Given the description of an element on the screen output the (x, y) to click on. 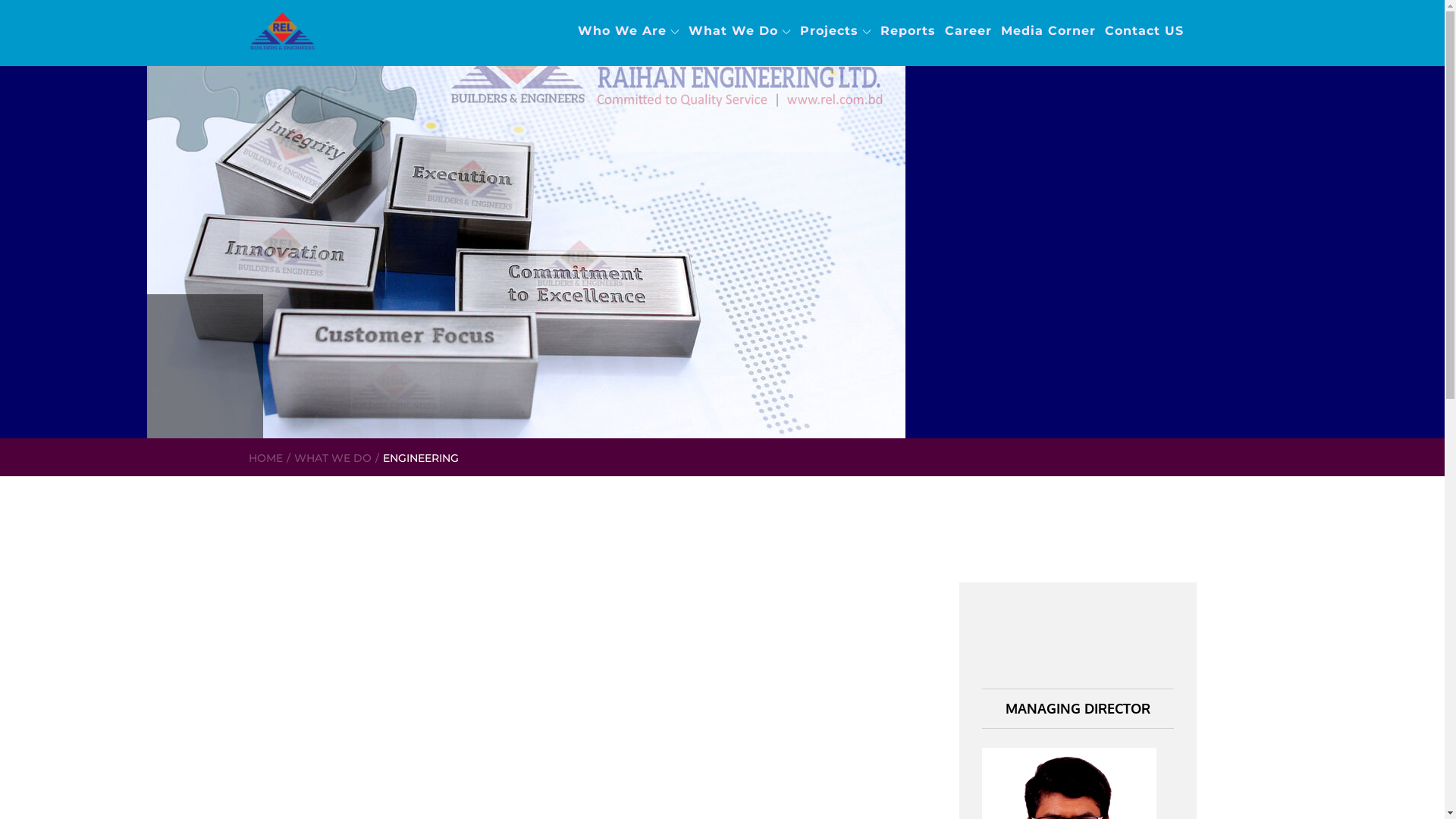
Reports Element type: text (908, 10)
Projects Element type: text (836, 10)
HOME Element type: text (265, 457)
Who We Are Element type: text (628, 10)
What We Do Element type: text (739, 10)
Media Corner Element type: text (1047, 10)
WHAT WE DO Element type: text (332, 457)
Contact US Element type: text (1144, 10)
Career Element type: text (967, 10)
